Given the description of an element on the screen output the (x, y) to click on. 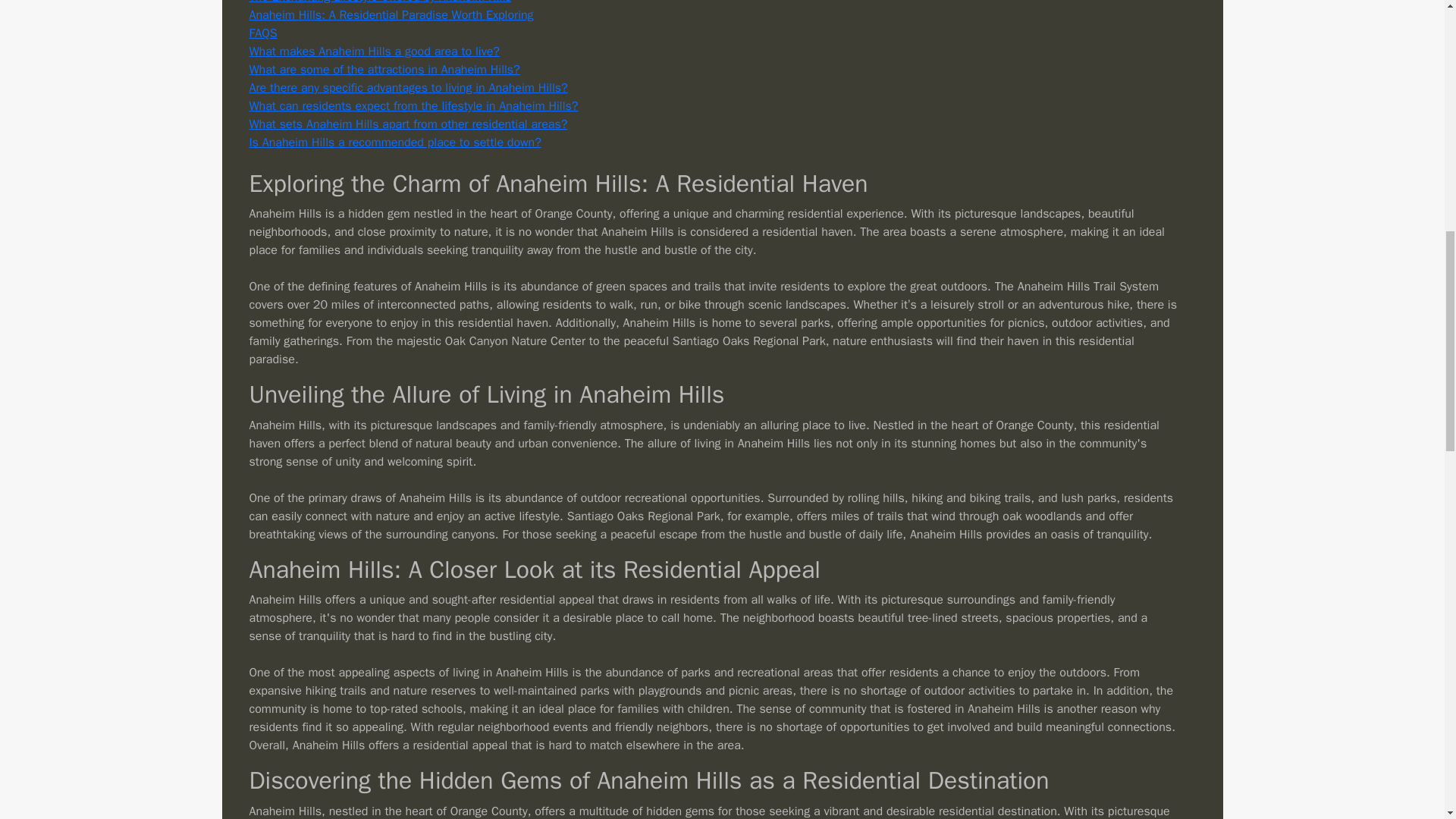
What sets Anaheim Hills apart from other residential areas? (407, 124)
Is Anaheim Hills a recommended place to settle down? (394, 142)
What are some of the attractions in Anaheim Hills? (383, 69)
Anaheim Hills: A Residential Paradise Worth Exploring (390, 14)
FAQS (262, 32)
The Enchanting Lifestyle Offered by Anaheim Hills (379, 2)
What makes Anaheim Hills a good area to live? (373, 51)
